Given the description of an element on the screen output the (x, y) to click on. 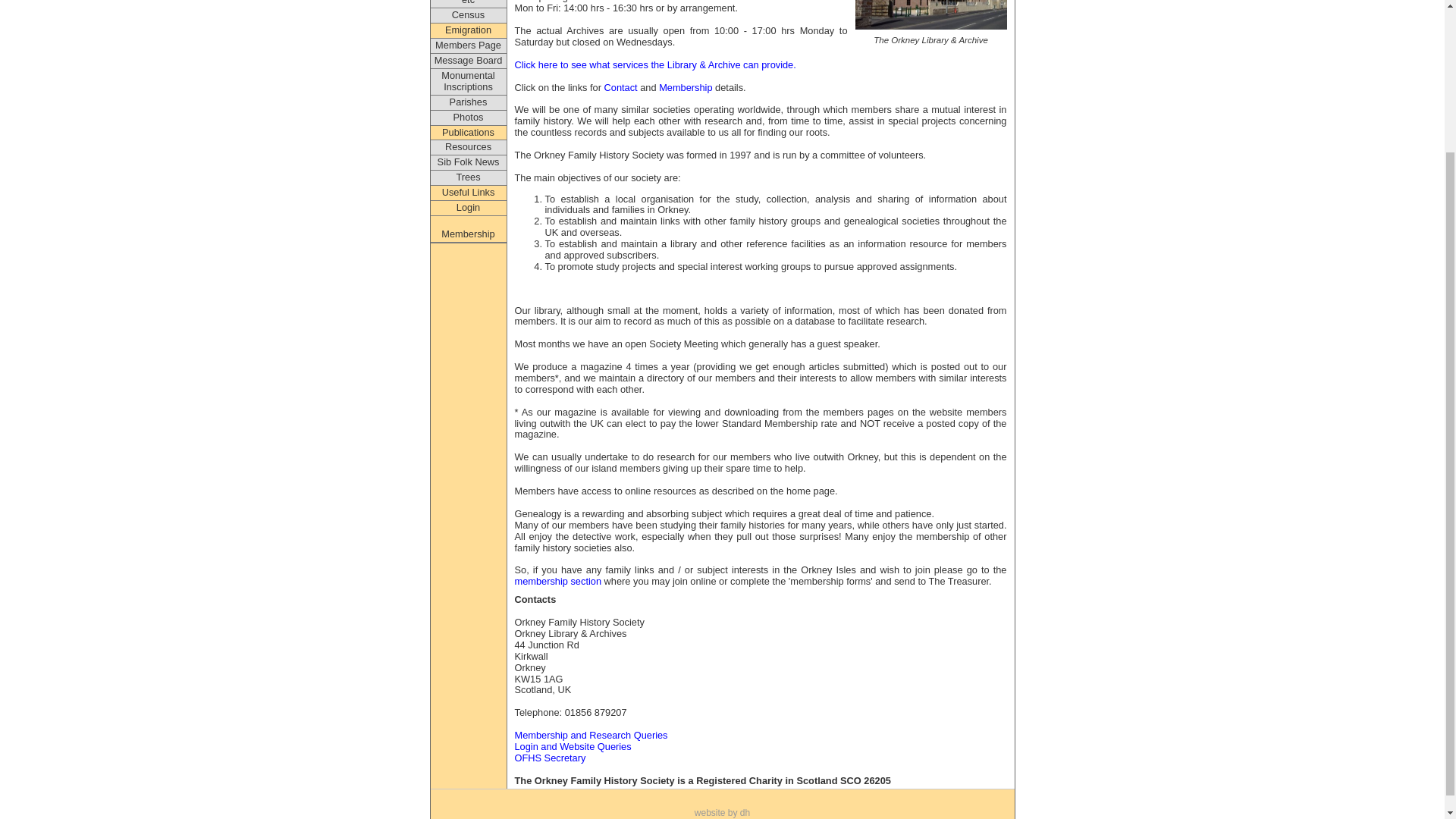
membership section (557, 581)
BMDs, Strays etc (468, 4)
Census (468, 15)
OFHS Secretary (549, 757)
Emigration (468, 30)
Trees (468, 177)
Members Page (468, 46)
Monumental Inscriptions (468, 81)
Publications (468, 133)
Photos (468, 118)
